Given the description of an element on the screen output the (x, y) to click on. 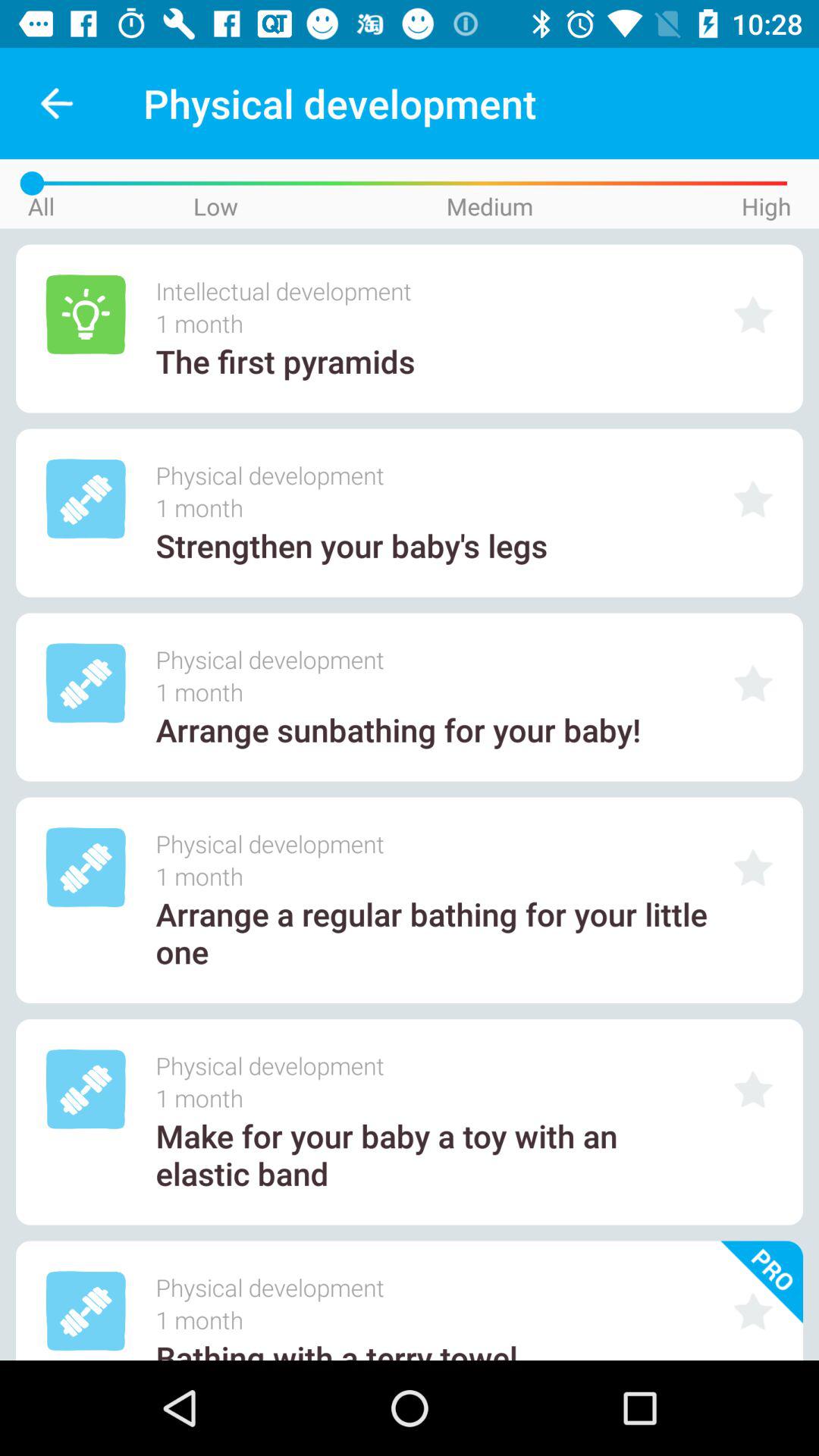
add to favorites (753, 683)
